Given the description of an element on the screen output the (x, y) to click on. 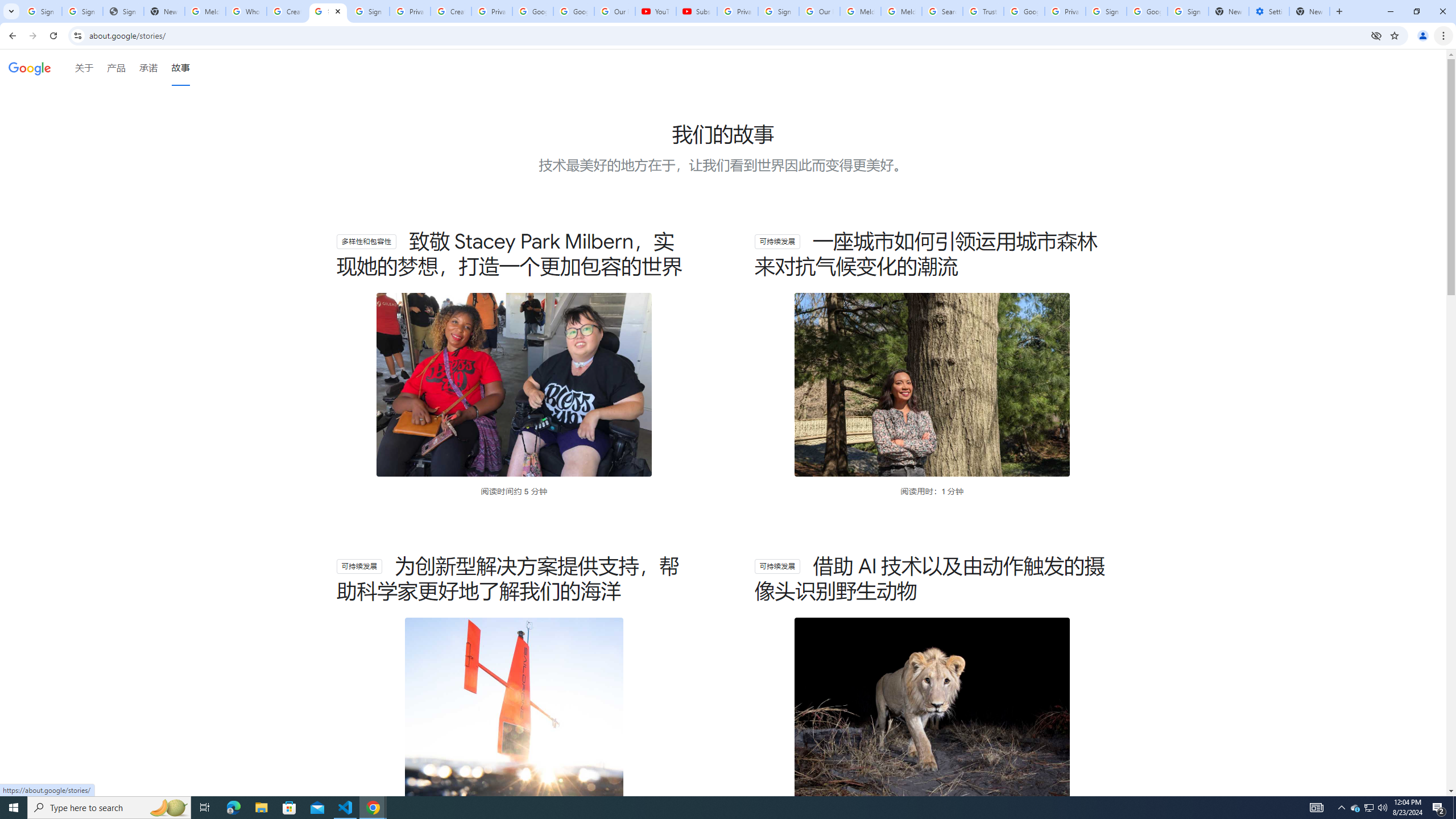
Sign in - Google Accounts (1187, 11)
Third-party cookies blocked (1376, 35)
Trusted Information and Content - Google Safety Center (983, 11)
Sign in - Google Accounts (777, 11)
Settings - Addresses and more (1268, 11)
